Given the description of an element on the screen output the (x, y) to click on. 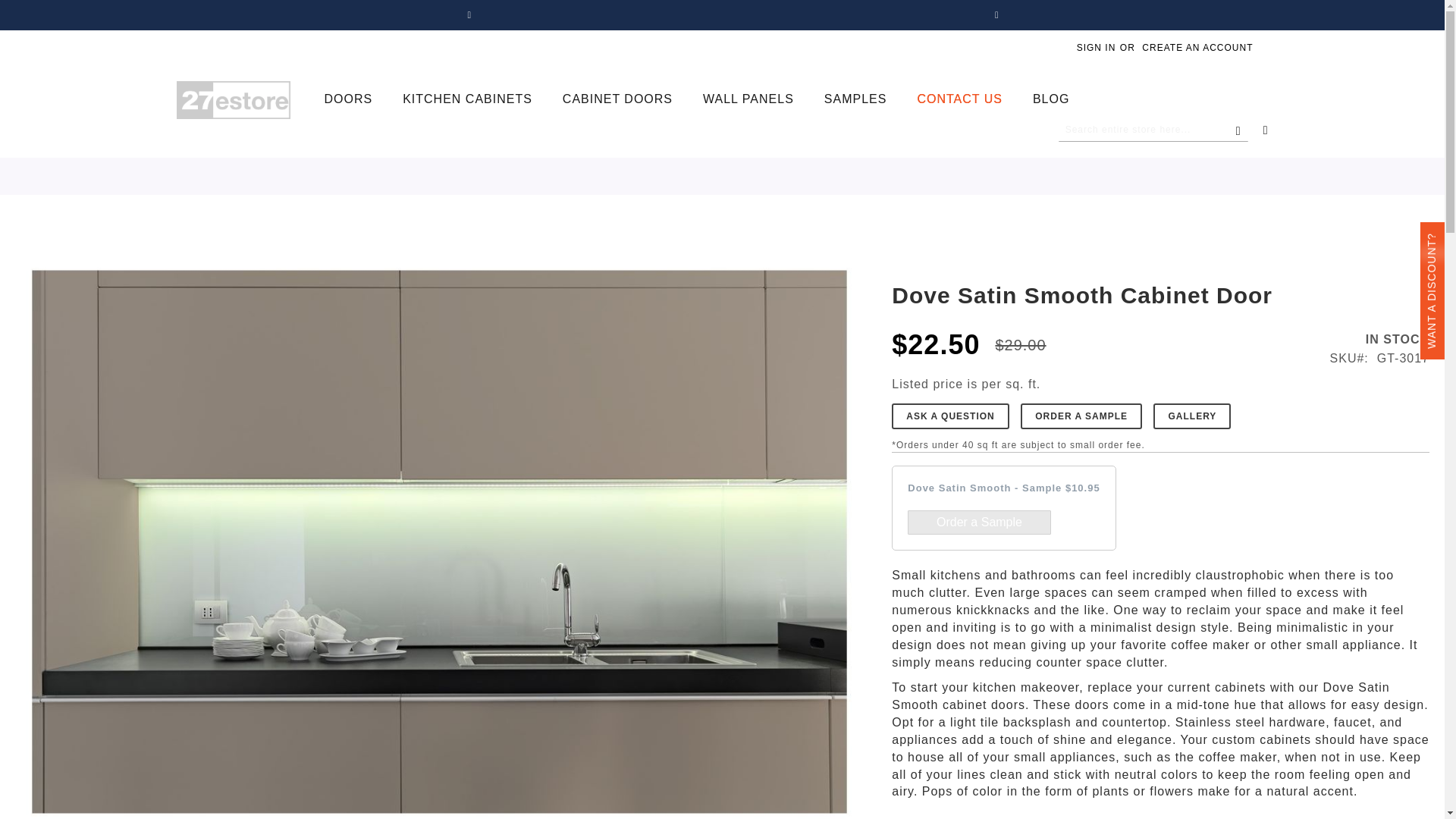
Next (1000, 15)
DOORS (348, 99)
CREATE AN ACCOUNT (1196, 47)
SIGN IN (1096, 47)
KITCHEN CABINETS (467, 99)
Get a Sample (978, 522)
Availability (1379, 339)
27estore (232, 99)
